Given the description of an element on the screen output the (x, y) to click on. 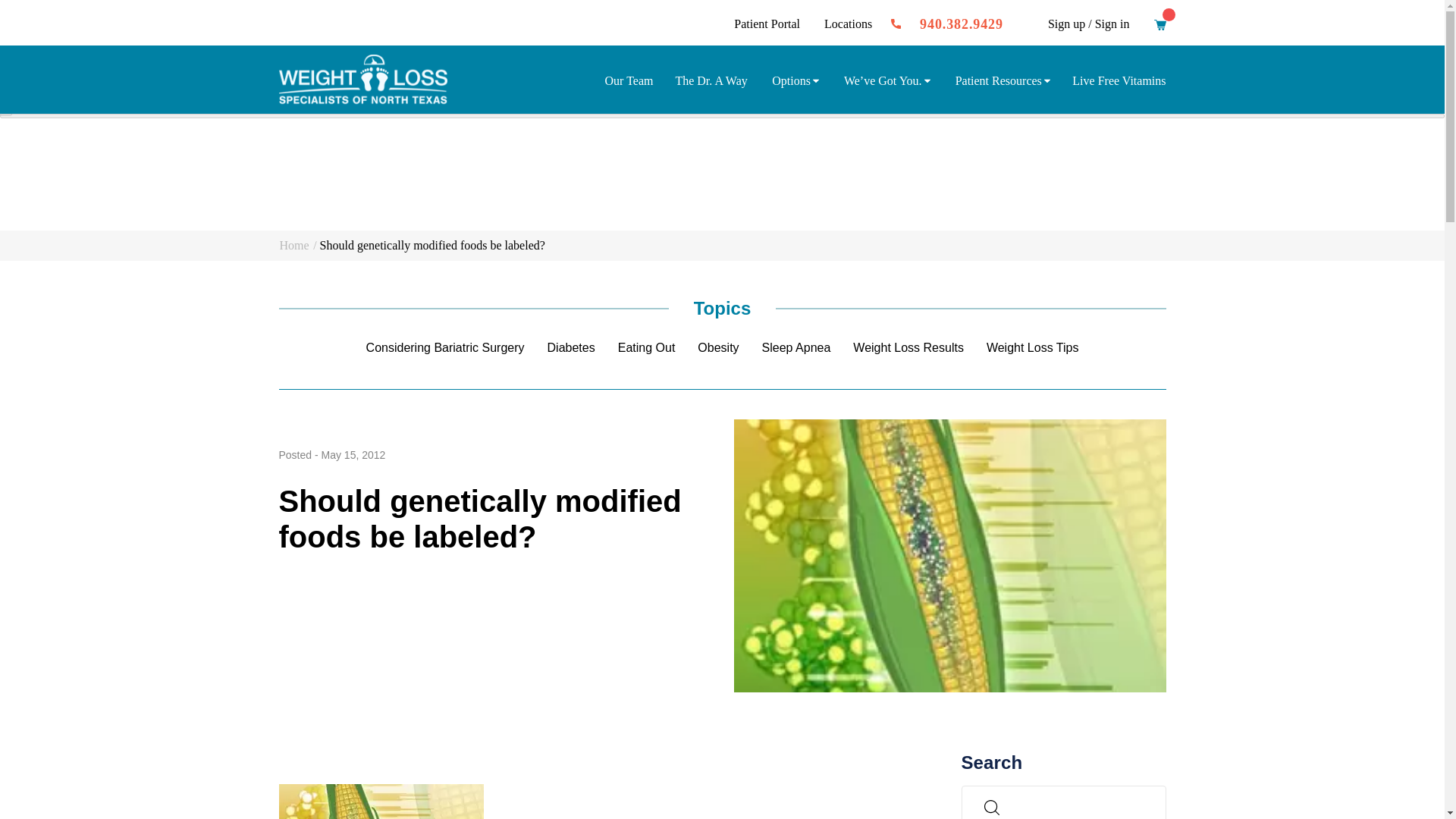
940.382.9429 (194, 94)
Patient Resources (71, 64)
The Dr. A Way (710, 80)
Close Menu (5, 113)
Patient Portal (32, 94)
Locations (848, 23)
Patient Portal (766, 23)
The Dr. A Way (57, 21)
Our Team (629, 80)
940.382.9429 (961, 23)
Our Team (45, 6)
Options (47, 35)
Options (794, 79)
Cart (1160, 26)
Live Free Vitamins (68, 80)
